Given the description of an element on the screen output the (x, y) to click on. 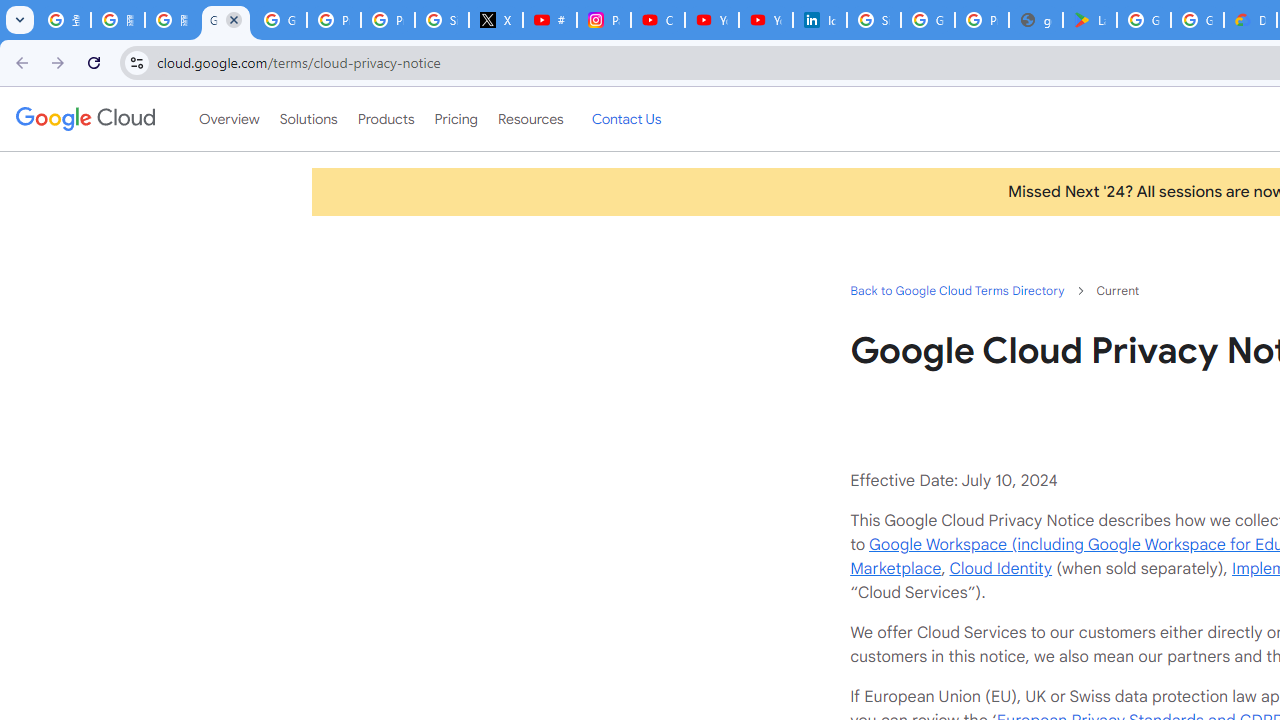
Pricing (455, 119)
Cloud Identity (1000, 568)
Contact Us (626, 119)
Sign in - Google Accounts (874, 20)
Resources (530, 119)
Privacy Help Center - Policies Help (387, 20)
X (495, 20)
